Given the description of an element on the screen output the (x, y) to click on. 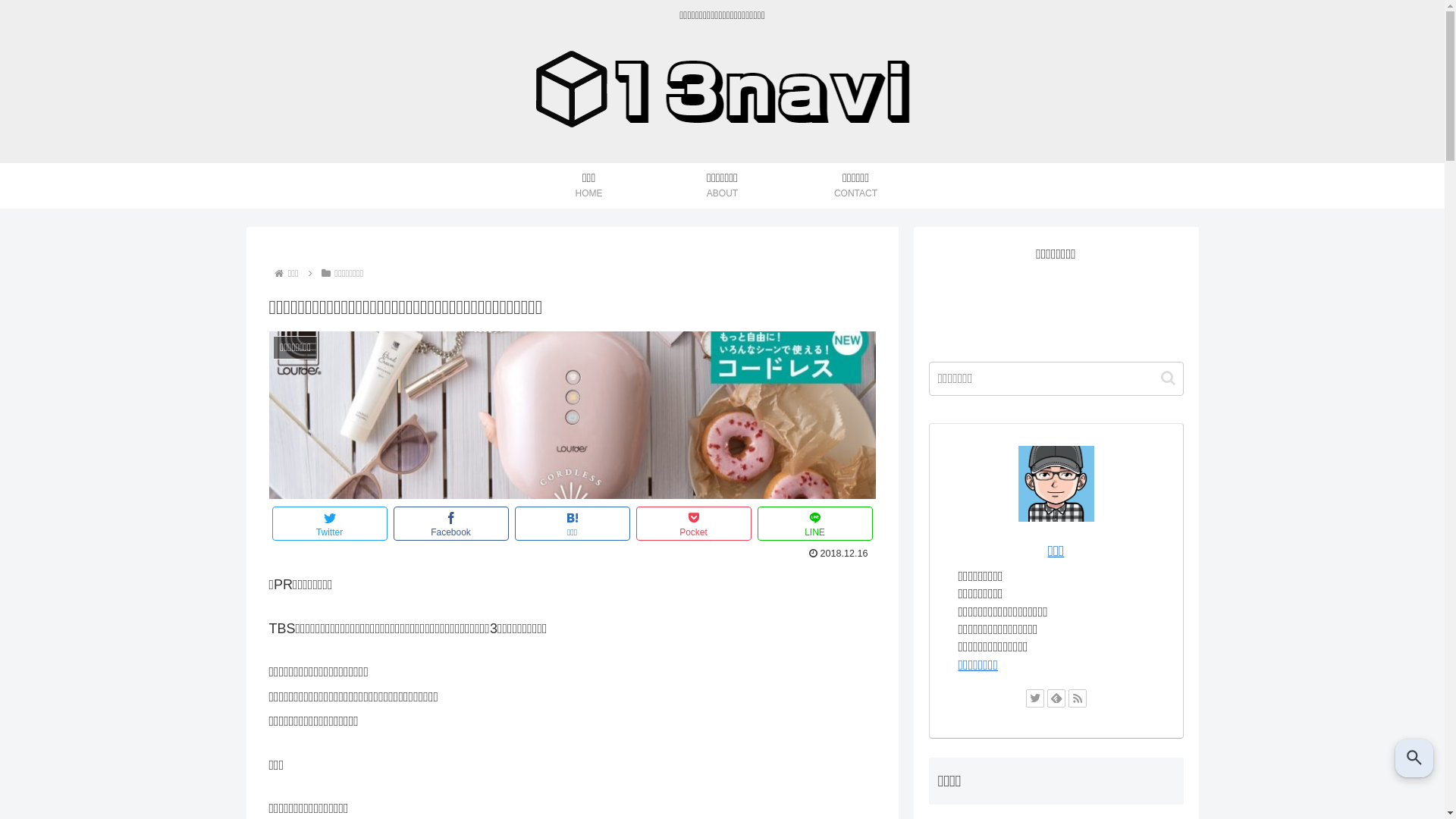
Twitter Element type: text (328, 523)
Facebook Element type: text (450, 523)
Advertisement Element type: hover (1055, 304)
Pocket Element type: text (692, 523)
LINE Element type: text (814, 523)
